Given the description of an element on the screen output the (x, y) to click on. 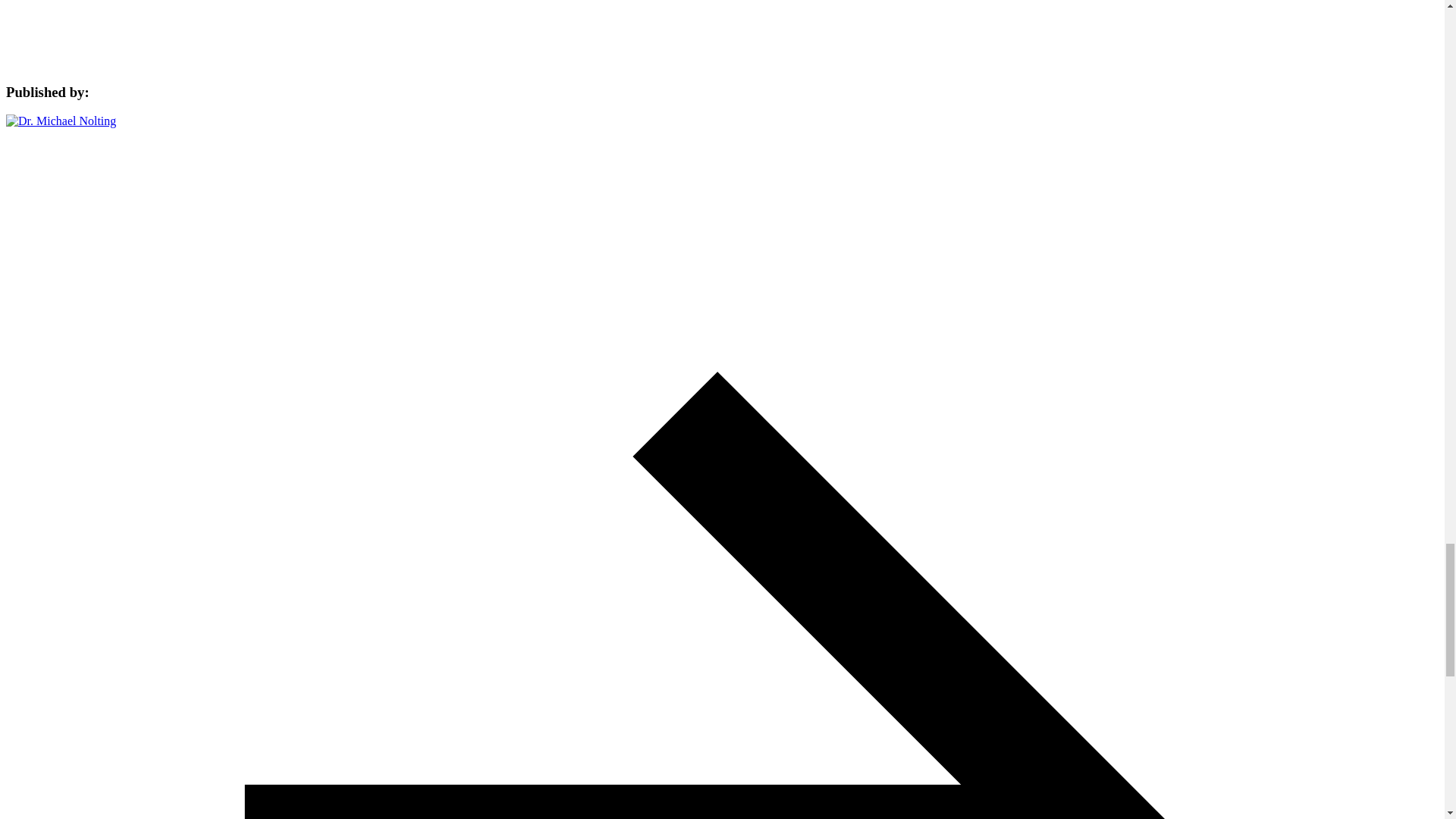
Dr. Michael Nolting (60, 120)
